Given the description of an element on the screen output the (x, y) to click on. 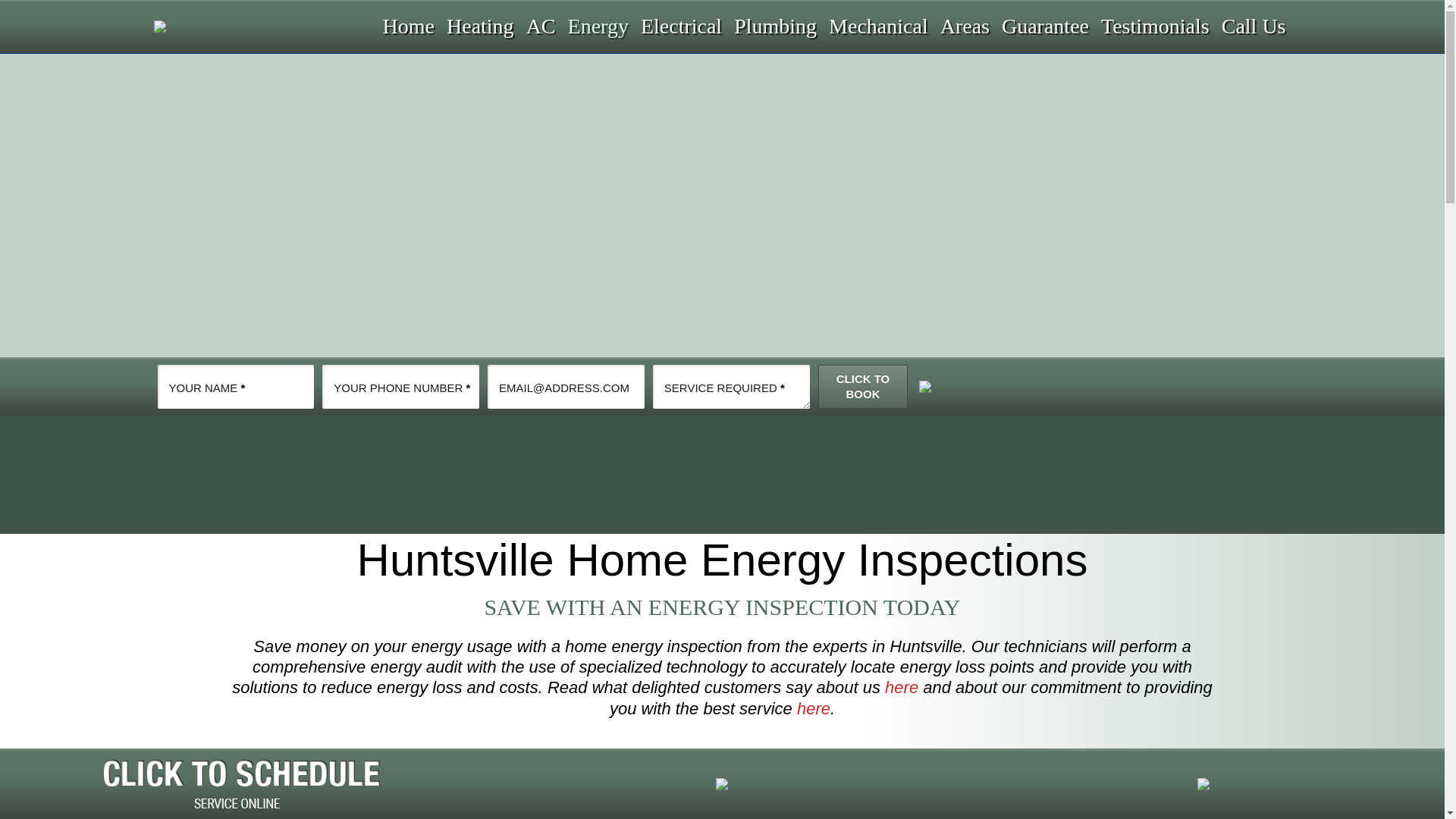
Heating (479, 26)
AC (539, 26)
Energy (596, 26)
Home (407, 26)
